Given the description of an element on the screen output the (x, y) to click on. 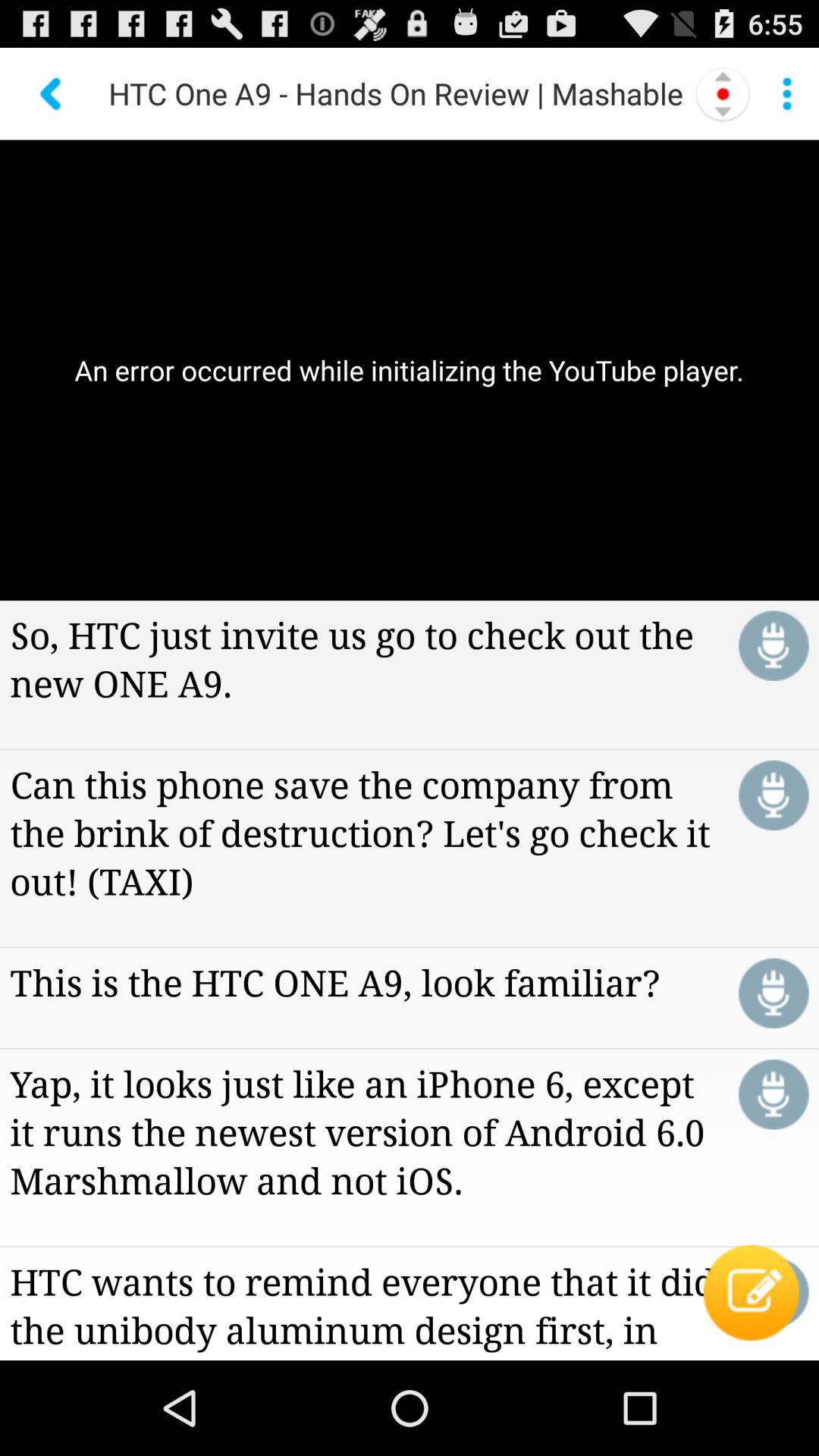
say sentence (773, 993)
